Given the description of an element on the screen output the (x, y) to click on. 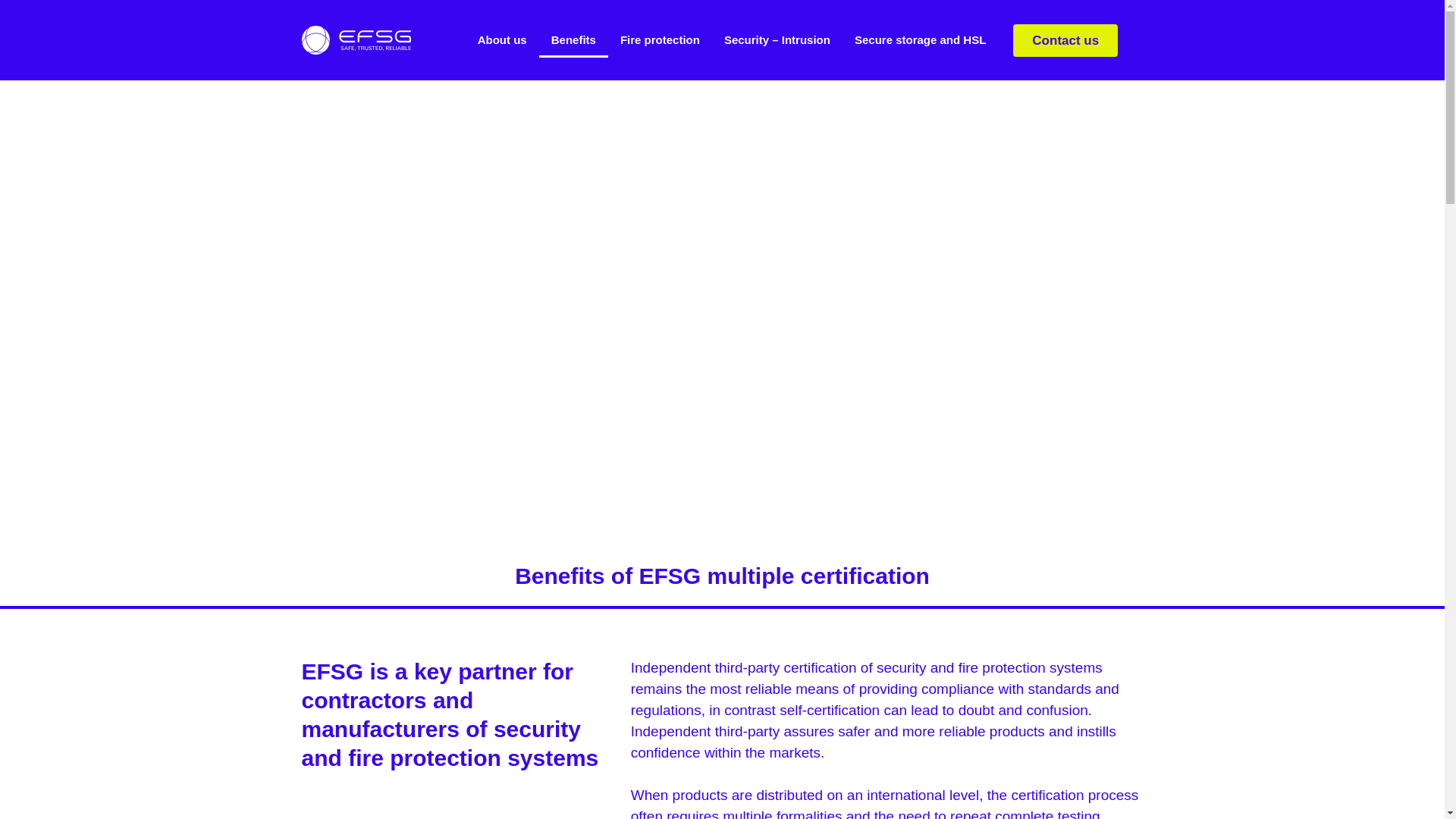
Benefits (573, 39)
Secure storage and HSL (920, 39)
Fire protection (659, 39)
Contact us (1065, 40)
About us (501, 39)
